Given the description of an element on the screen output the (x, y) to click on. 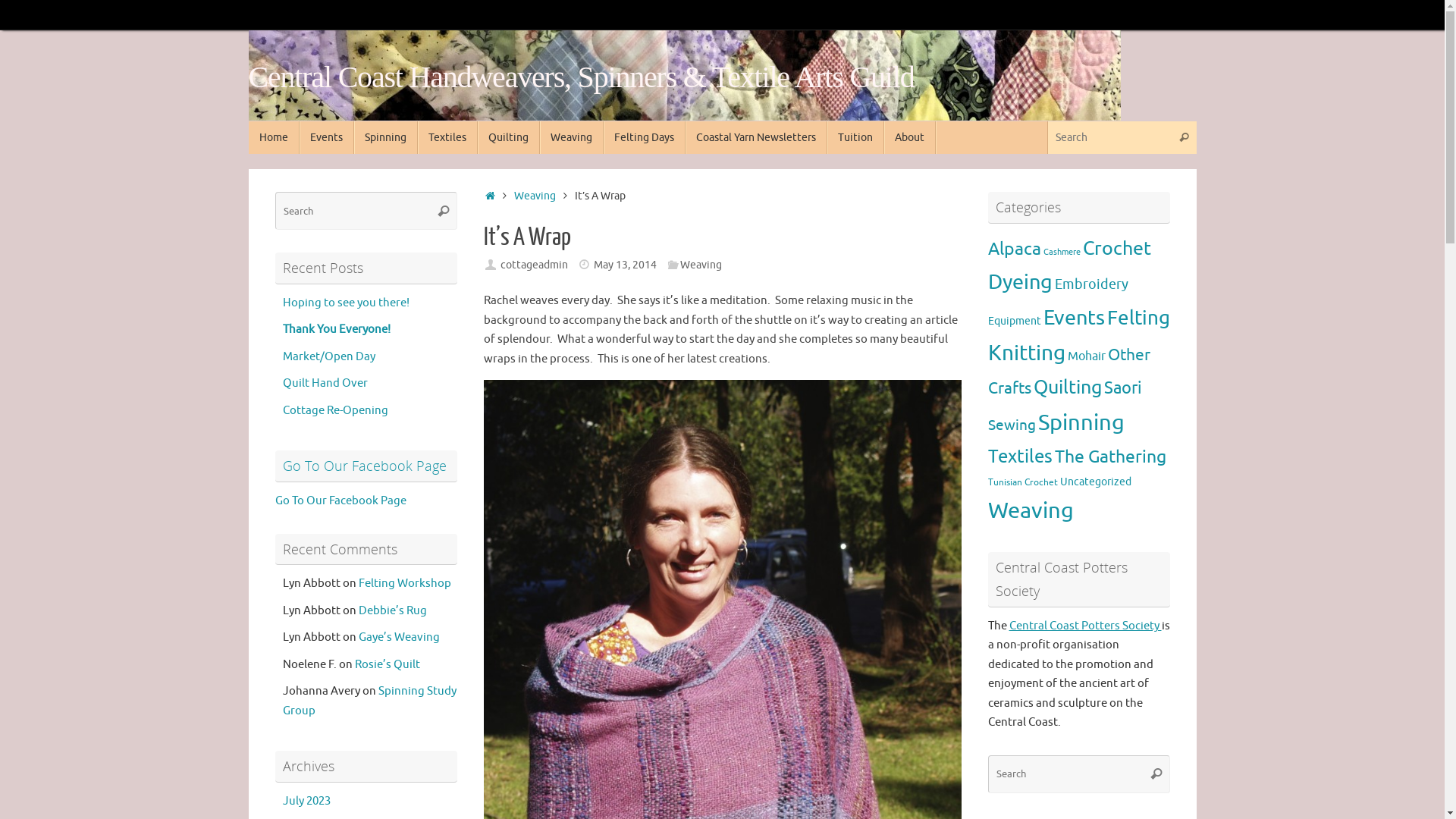
Weaving Element type: text (700, 263)
Central Coast Handweavers, Spinners & Textile Arts Guild Element type: hover (684, 75)
About Element type: text (909, 137)
Uncategorized Element type: text (1095, 481)
Go To Our Facebook Page Element type: text (339, 500)
Central Coast Potters Society Element type: text (1084, 625)
Other Crafts Element type: text (1068, 371)
Spinning Study Group Element type: text (368, 701)
Knitting Element type: text (1025, 353)
Weaving Element type: text (534, 195)
Weaving Element type: text (1030, 510)
Central Coast Handweavers, Spinners & Textile Arts Guild Element type: text (581, 77)
Dyeing Element type: text (1019, 281)
Hoping to see you there! Element type: text (345, 302)
Embroidery Element type: text (1090, 284)
Search Element type: text (1184, 137)
Equipment Element type: text (1013, 320)
Date Element type: hover (584, 263)
Thank You Everyone! Element type: text (335, 329)
Weaving Element type: text (571, 137)
Mohair Element type: text (1086, 356)
Quilt Hand Over Element type: text (324, 383)
Textiles Element type: text (1019, 456)
May 13, 2014 Element type: text (624, 263)
Tuition Element type: text (854, 137)
Go To Our Facebook Page Element type: text (363, 465)
Crochet Element type: text (1116, 248)
Saori Element type: text (1123, 387)
Events Element type: text (1073, 317)
Coastal Yarn Newsletters Element type: text (756, 137)
Alpaca Element type: text (1013, 248)
Quilting Element type: text (508, 137)
Market/Open Day Element type: text (328, 356)
Home Element type: text (490, 195)
Home Element type: text (273, 137)
Felting Days Element type: text (644, 137)
Sewing Element type: text (1011, 425)
Cashmere Element type: text (1061, 252)
Skip to content Element type: text (247, 144)
Tunisian Crochet Element type: text (1022, 482)
Categories Element type: hover (672, 263)
Felting Workshop Element type: text (403, 583)
cottageadmin Element type: text (533, 263)
Spinning Element type: text (385, 137)
July 2023 Element type: text (305, 800)
Author  Element type: hover (490, 263)
Felting Element type: text (1138, 317)
Cottage Re-Opening Element type: text (334, 410)
Events Element type: text (325, 137)
Search Element type: text (443, 210)
The Gathering Element type: text (1109, 456)
Textiles Element type: text (446, 137)
Spinning Element type: text (1080, 422)
Search Element type: text (1156, 774)
Quilting Element type: text (1066, 387)
